Given the description of an element on the screen output the (x, y) to click on. 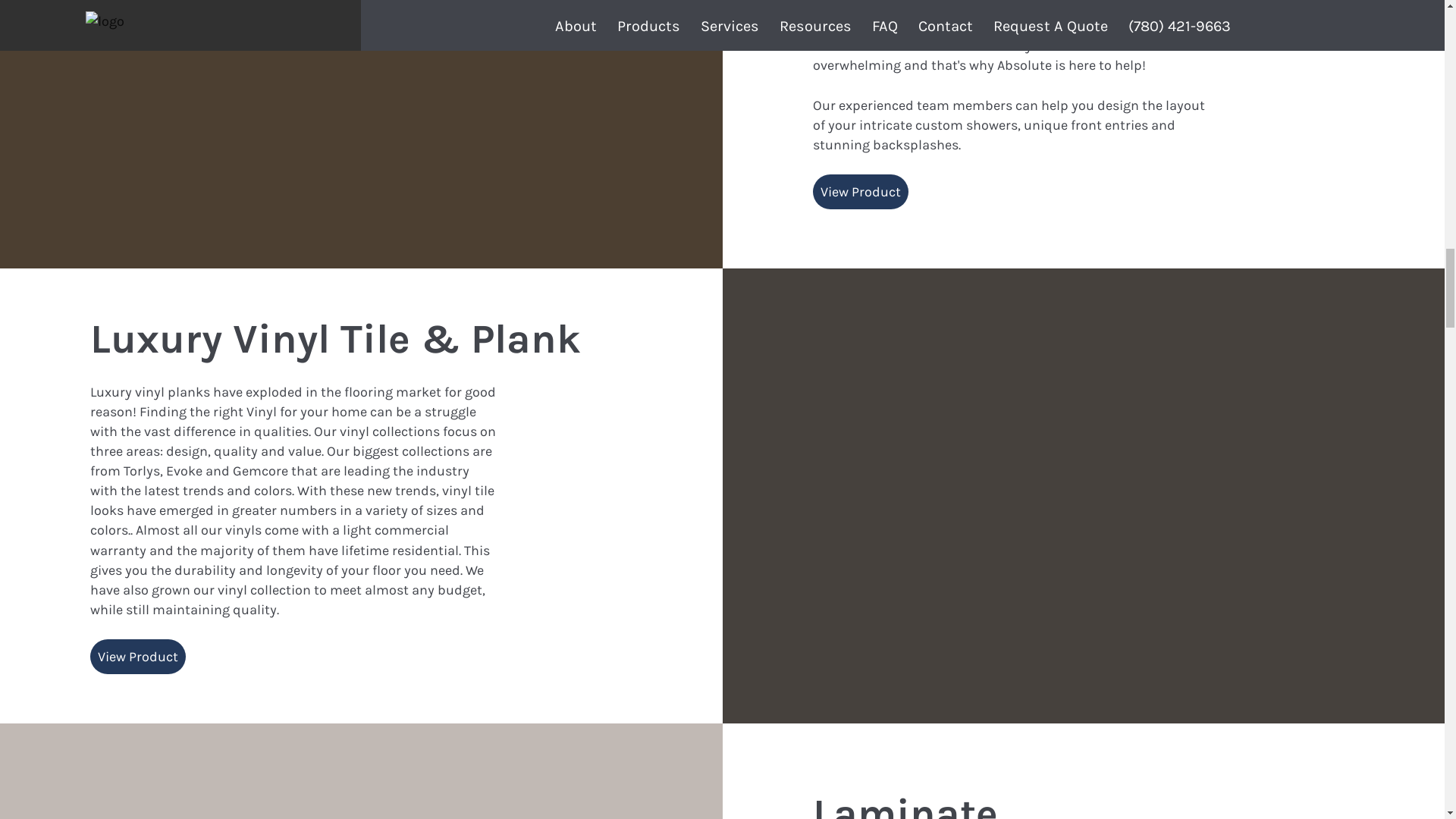
View Product (138, 656)
View Product (860, 191)
Laminate (904, 804)
